Given the description of an element on the screen output the (x, y) to click on. 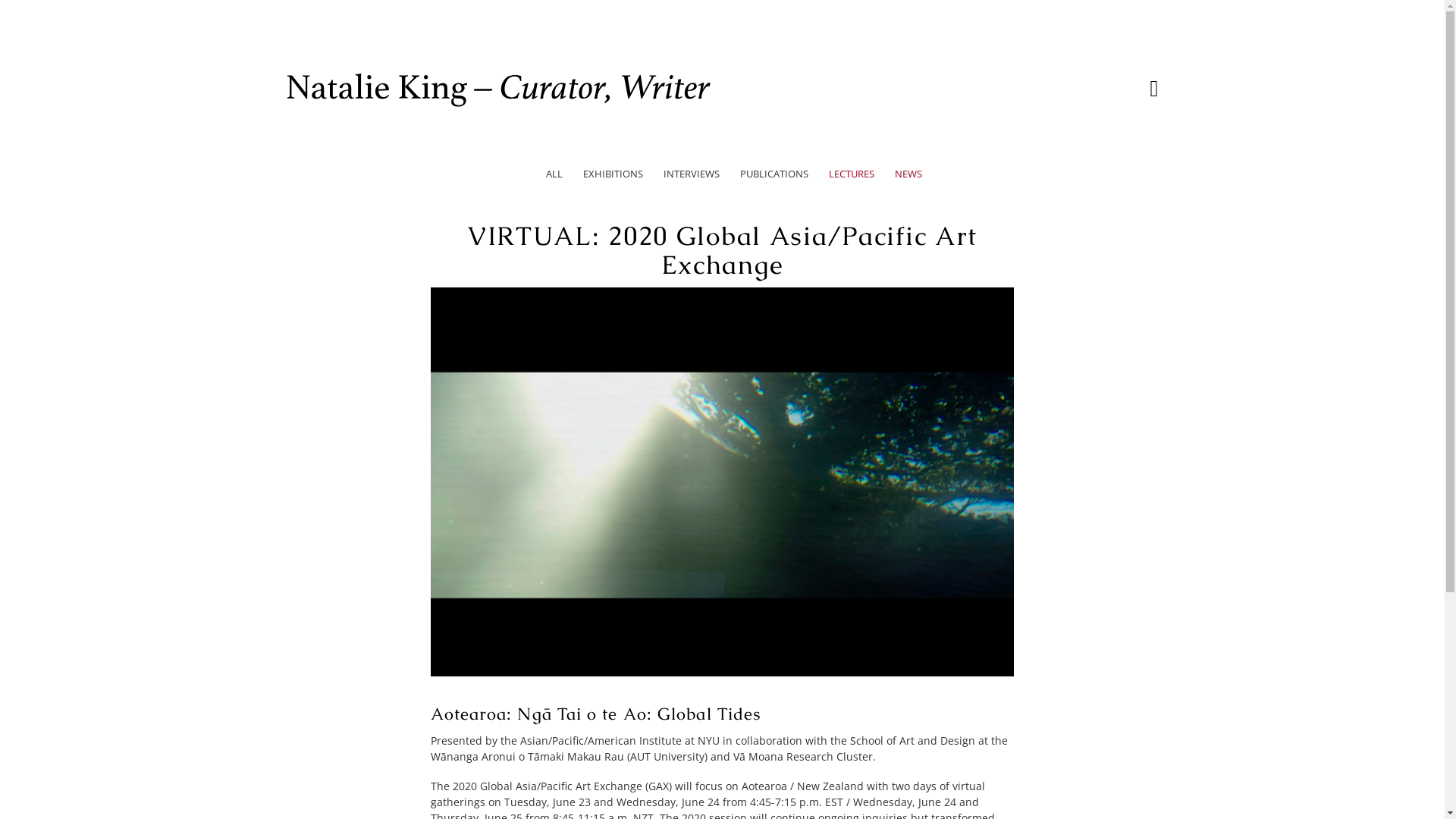
VIRTUAL: 2020 Global Asia/Pacific Art Exchange Element type: hover (722, 672)
PUBLICATIONS Element type: text (774, 173)
Natalie King Element type: hover (498, 107)
Natalie King Element type: hover (498, 90)
ALL Element type: text (554, 173)
EXHIBITIONS Element type: text (612, 173)
NEWS Element type: text (908, 173)
LECTURES Element type: text (850, 173)
INTERVIEWS Element type: text (690, 173)
